Given the description of an element on the screen output the (x, y) to click on. 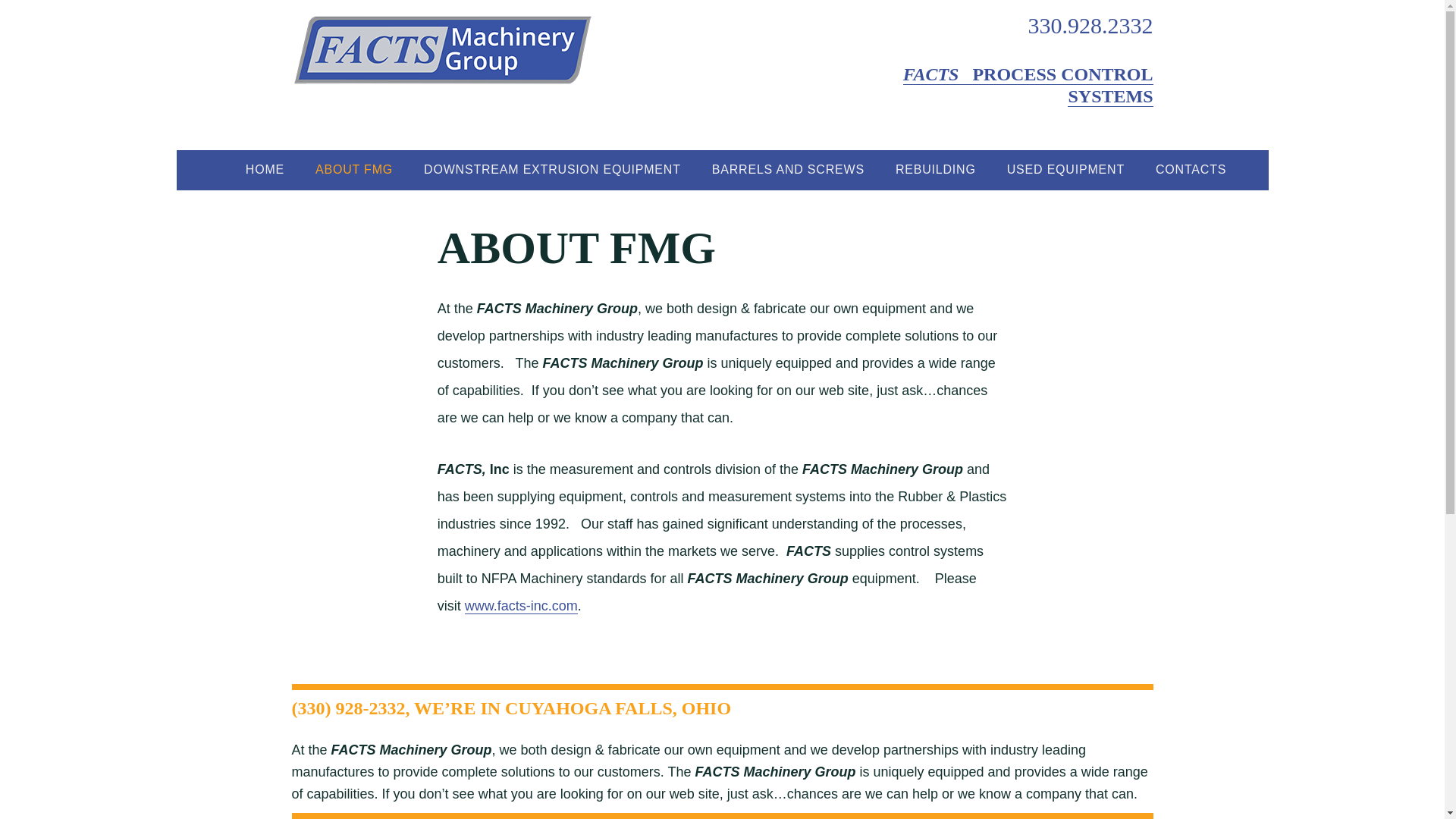
ABOUT FMG (354, 169)
factsmachinerygroup.com (442, 48)
www.facts-inc.com (521, 606)
REBUILDING (935, 169)
HOME (264, 169)
DOWNSTREAM EXTRUSION EQUIPMENT (552, 169)
BARRELS AND SCREWS (787, 169)
FACTS   PROCESS CONTROL SYSTEMS (1027, 85)
USED EQUIPMENT (1065, 169)
CONTACTS (1190, 169)
